Given the description of an element on the screen output the (x, y) to click on. 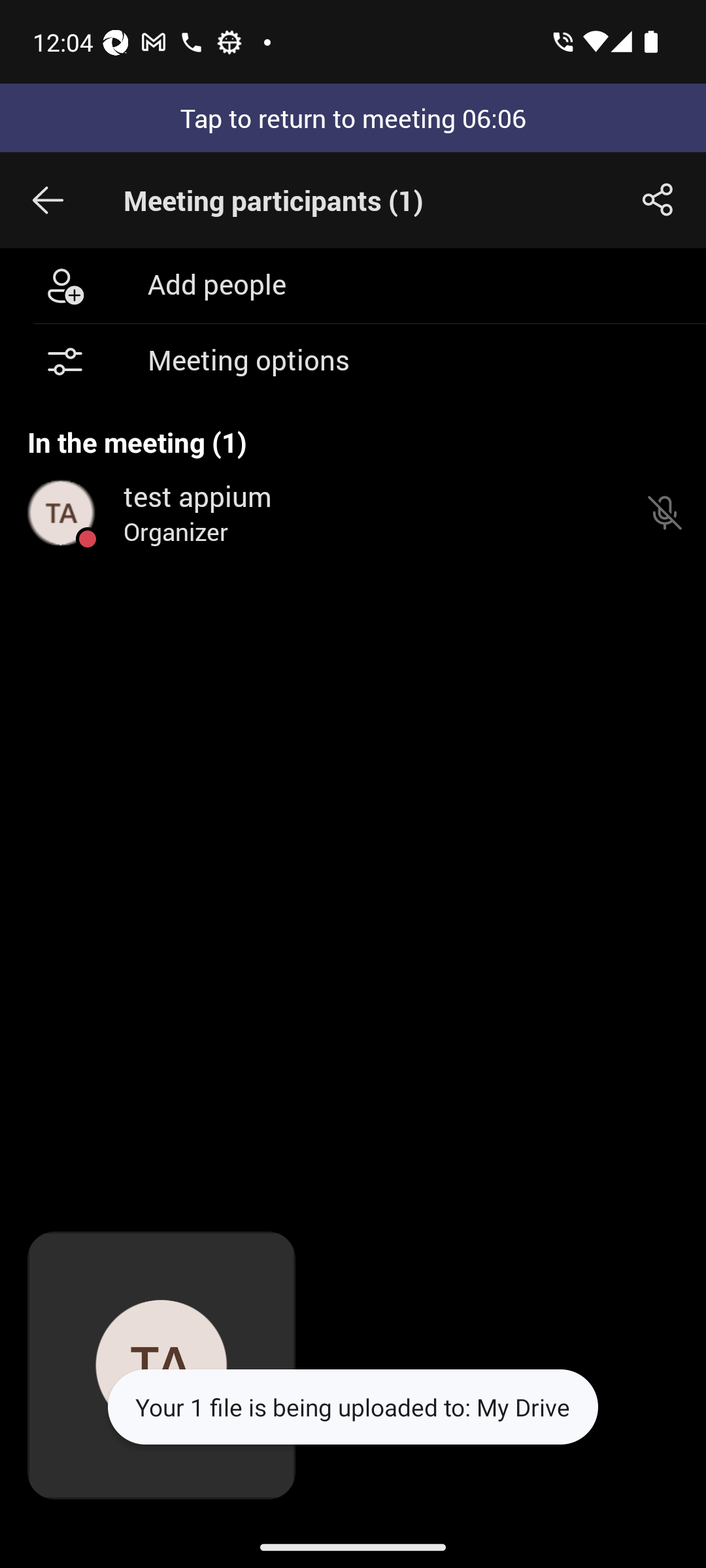
Tap to return to meeting 06:06 (353, 117)
Back (48, 199)
Share meeting invite (657, 199)
Add people (353, 285)
Meeting options (353, 361)
